Given the description of an element on the screen output the (x, y) to click on. 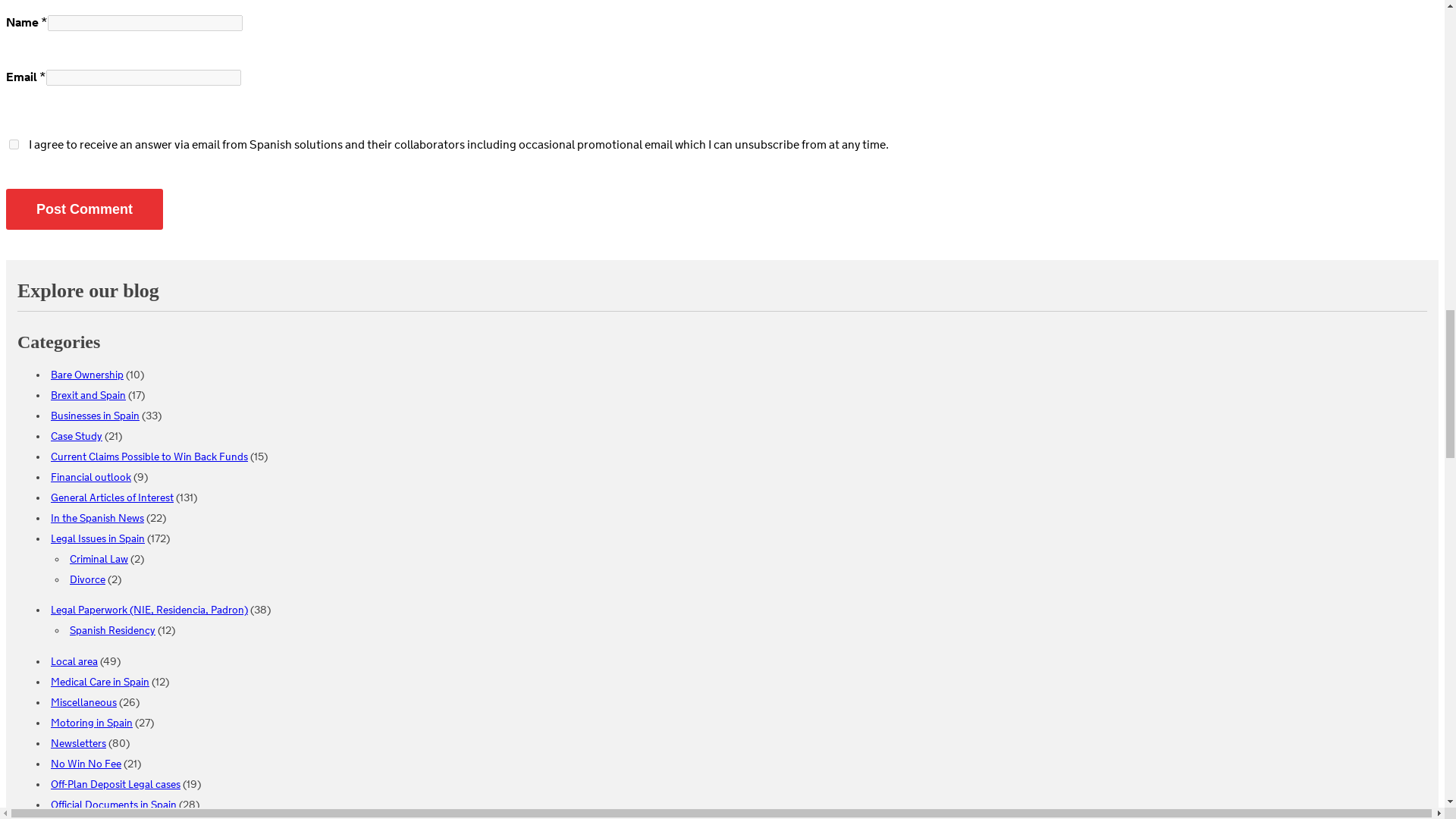
Case Study (75, 436)
yes (13, 144)
Post Comment (84, 208)
General Articles of Interest (111, 498)
Criminal Law (98, 559)
In the Spanish News (97, 518)
Legal Issues in Spain (97, 539)
Businesses in Spain (94, 416)
Financial outlook (90, 477)
Divorce (86, 580)
